Given the description of an element on the screen output the (x, y) to click on. 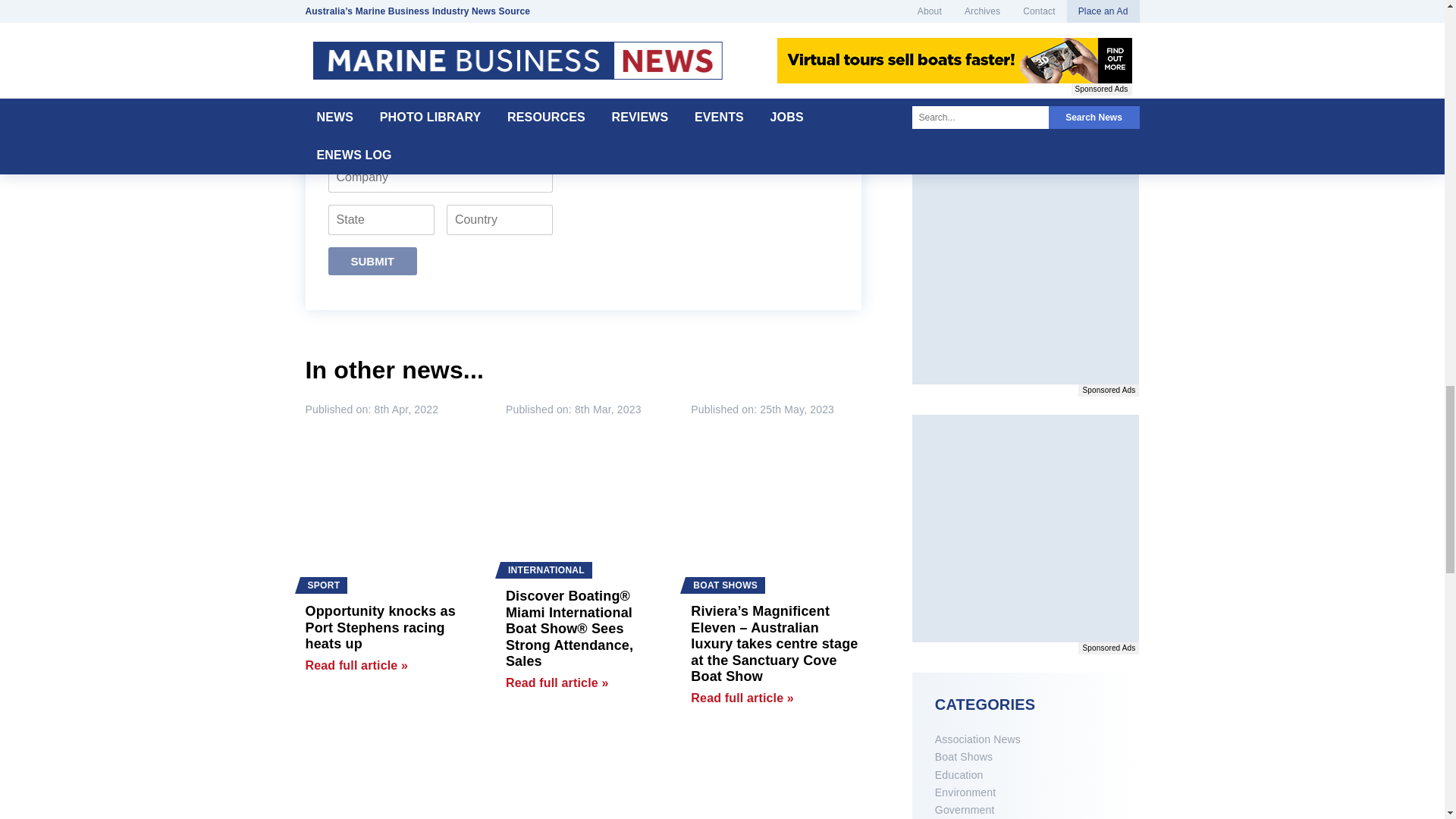
Submit (373, 261)
Submit (373, 261)
